Given the description of an element on the screen output the (x, y) to click on. 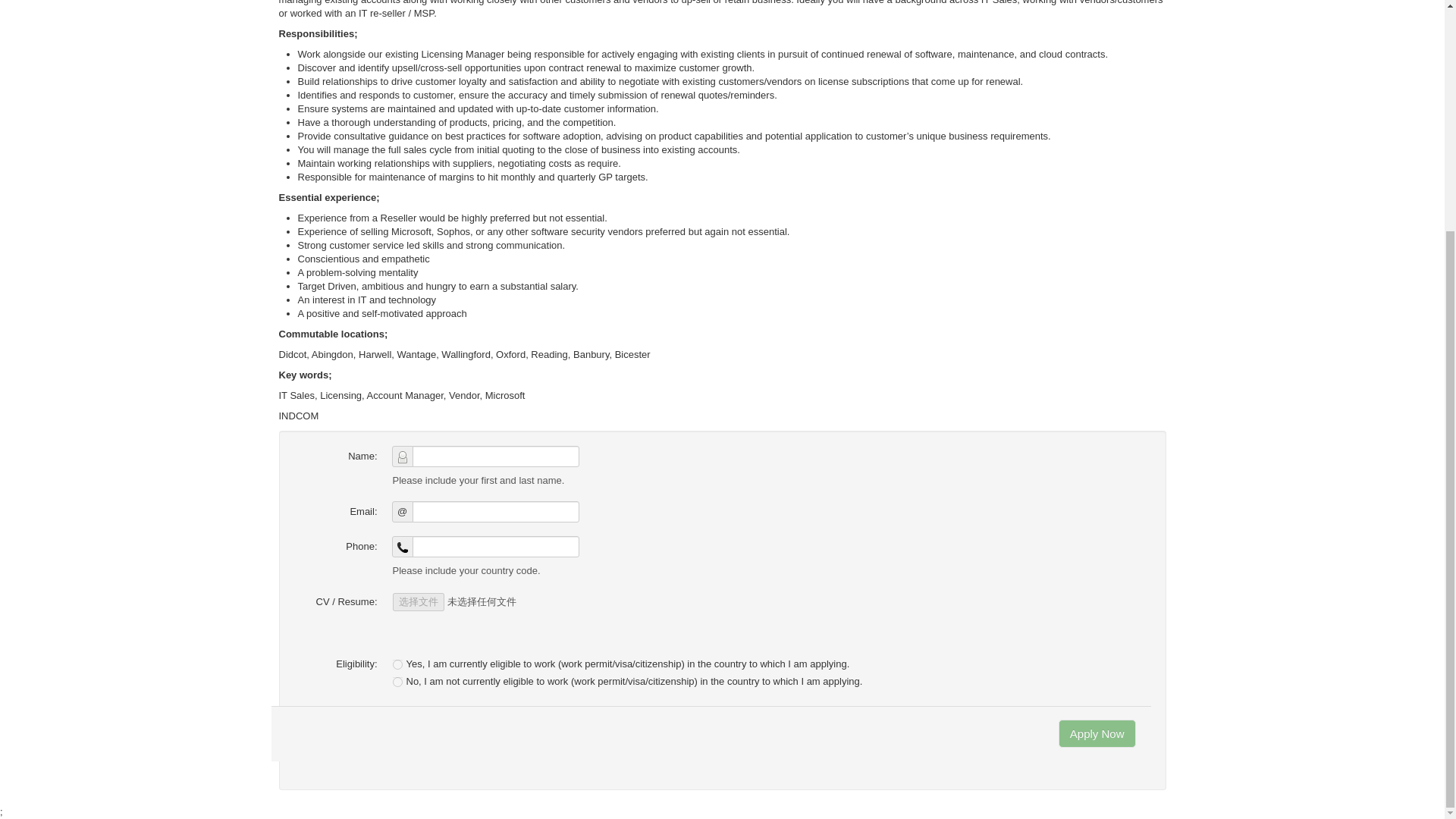
Yes (398, 664)
No (398, 682)
Apply Now (1096, 733)
Apply Now (1096, 733)
